Given the description of an element on the screen output the (x, y) to click on. 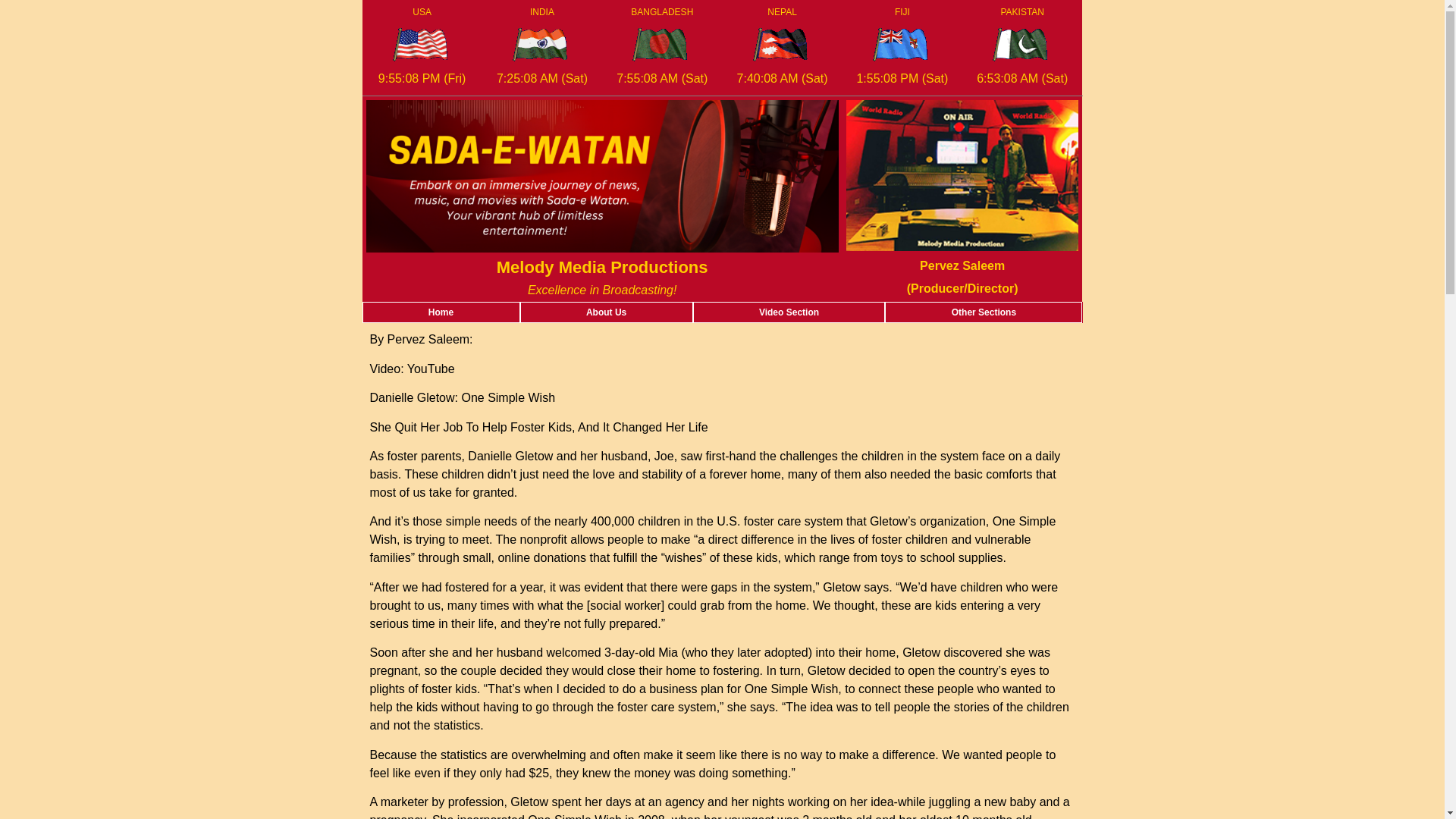
About Us (607, 312)
Video Section (789, 312)
Home (440, 312)
Other Sections (983, 312)
